Given the description of an element on the screen output the (x, y) to click on. 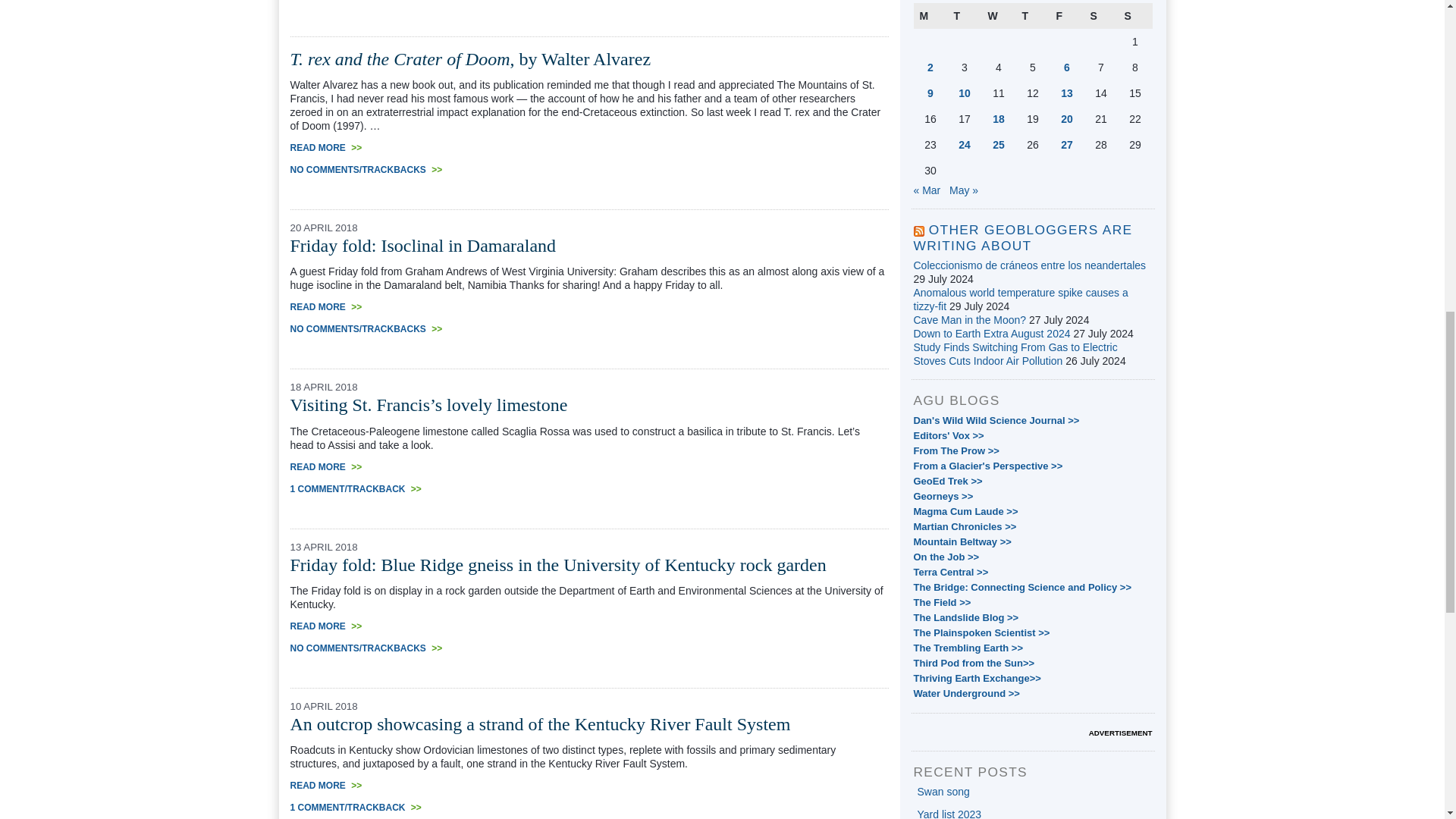
Saturday (1101, 15)
Permanent Link to Friday fold: Isoclinal in Damaraland (422, 245)
Wednesday (997, 15)
Monday (929, 15)
Friday fold: Isoclinal in Damaraland (422, 245)
Friday (1066, 15)
Thursday (1032, 15)
Tuesday (964, 15)
T. rex and the Crater of Doom, by Walter Alvarez (469, 58)
